Given the description of an element on the screen output the (x, y) to click on. 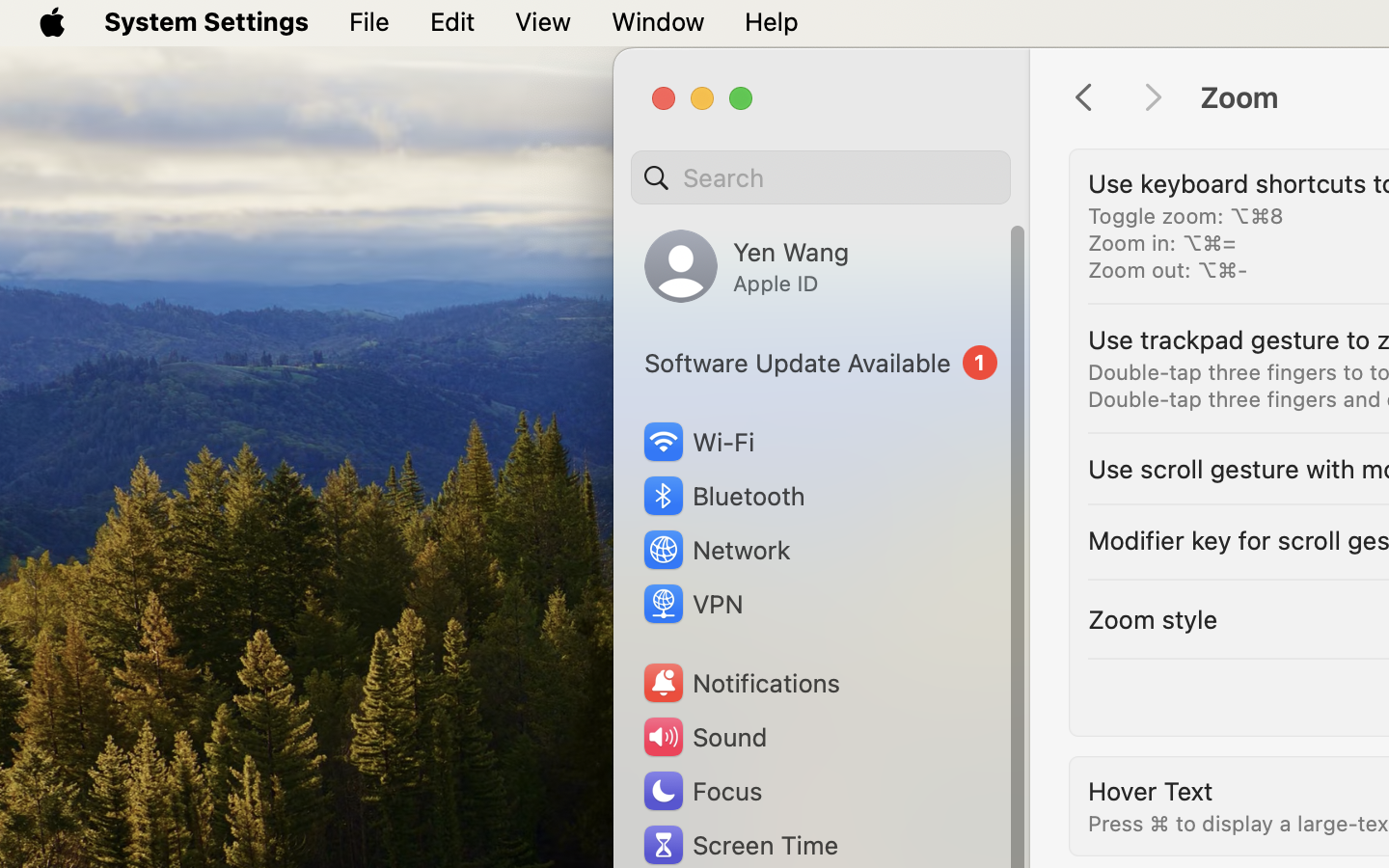
Wi‑Fi Element type: AXStaticText (697, 441)
Zoom style Element type: AXStaticText (1152, 618)
Notifications Element type: AXStaticText (740, 682)
Hover Text Element type: AXStaticText (1150, 790)
Focus Element type: AXStaticText (701, 790)
